Given the description of an element on the screen output the (x, y) to click on. 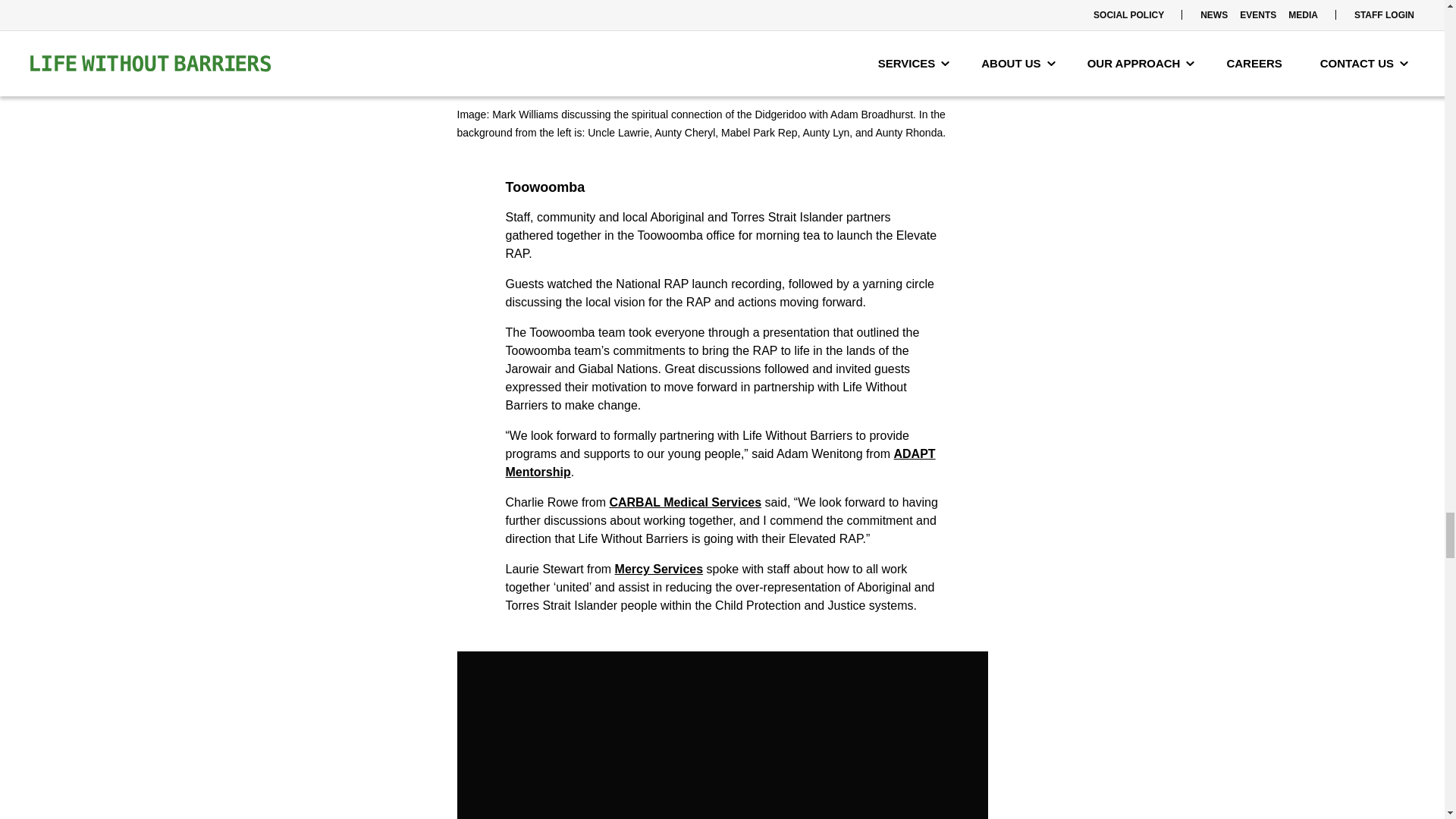
ADAPT Mentorship (719, 462)
